Given the description of an element on the screen output the (x, y) to click on. 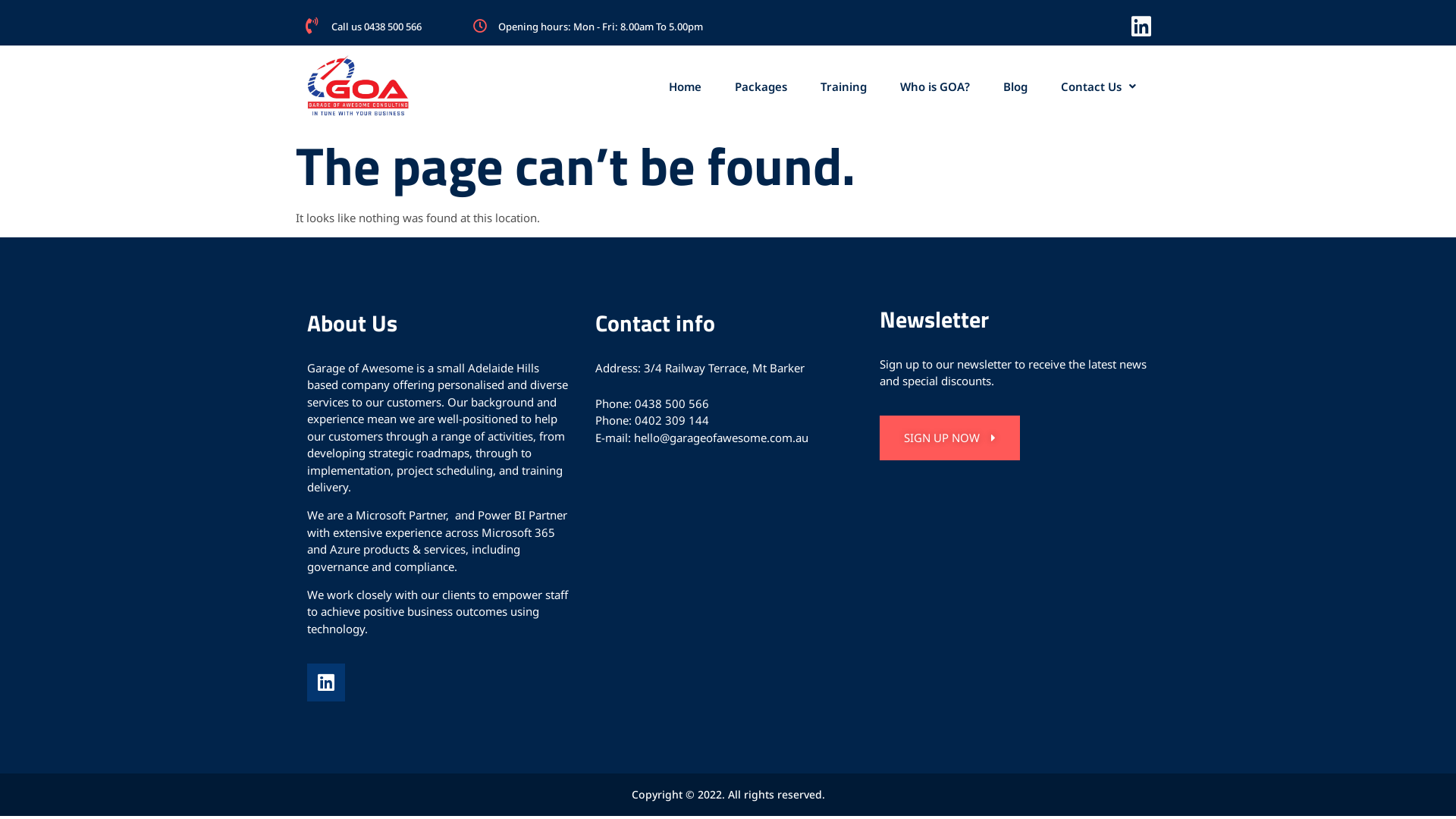
Blog Element type: text (1015, 86)
hello@garageofawesome.com.au Element type: text (720, 437)
0438 500 566 Element type: text (671, 403)
Packages Element type: text (760, 86)
Who is GOA? Element type: text (934, 86)
Home Element type: text (685, 86)
Training Element type: text (843, 86)
Contact Us Element type: text (1098, 86)
Call us 0438 500 566 Element type: text (376, 26)
SIGN UP NOW Element type: text (949, 437)
0402 309 144 Element type: text (671, 419)
